Given the description of an element on the screen output the (x, y) to click on. 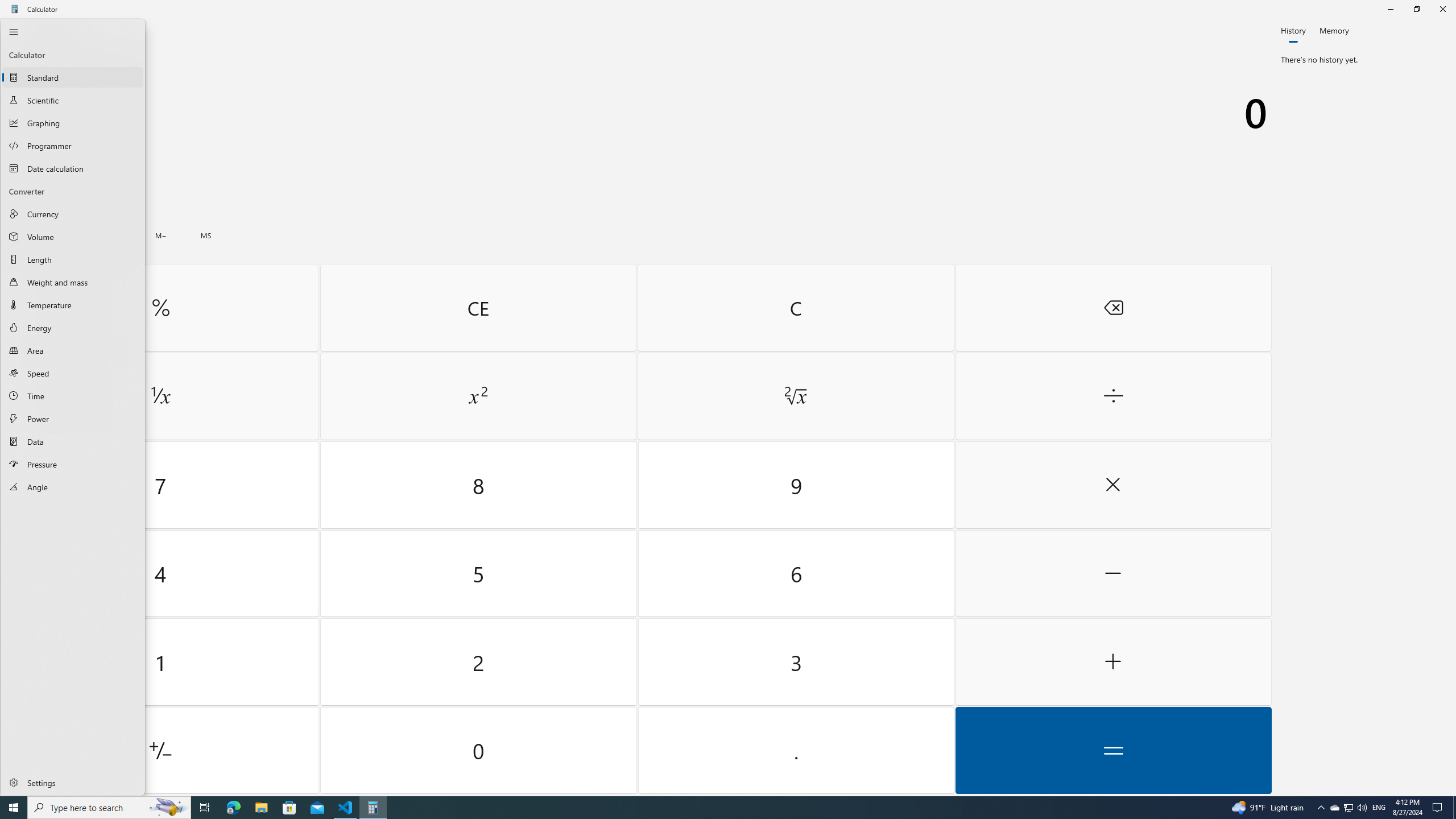
Eight (478, 485)
Clear entry (478, 307)
Length Converter (72, 258)
Positive negative (160, 749)
Three (795, 661)
Five (478, 572)
Equals (1113, 749)
Zero (478, 749)
Keep on top (88, 31)
Backspace (1113, 307)
Memory recall (69, 235)
Minus (1113, 572)
